Given the description of an element on the screen output the (x, y) to click on. 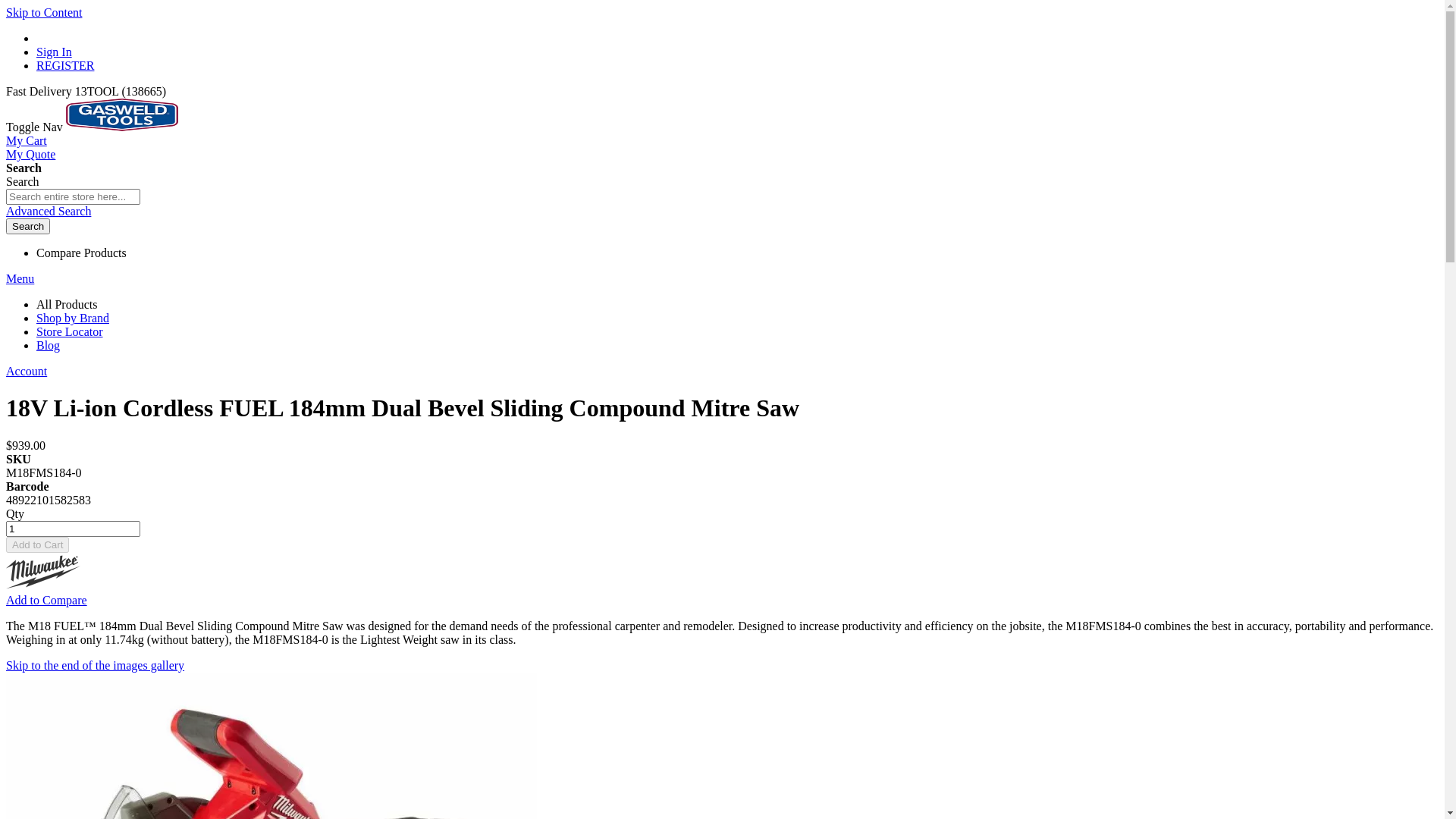
Store Locator Element type: text (69, 331)
Search Element type: text (28, 226)
Blog Element type: text (47, 344)
Add to Cart Element type: text (37, 544)
My Cart Element type: text (26, 140)
All Products Element type: text (66, 304)
Add to Compare Element type: text (46, 599)
Gasweld The Tool Shop For Professionals Element type: hover (121, 114)
REGISTER Element type: text (65, 65)
Milwaukee Element type: hover (43, 586)
Compare Products Element type: text (81, 252)
Sign In Element type: text (54, 51)
Gasweld The Tool Shop For Professionals Element type: hover (121, 126)
Menu Element type: text (20, 278)
My Quote Element type: text (30, 153)
Skip to Content Element type: text (43, 12)
Skip to the end of the images gallery Element type: text (95, 664)
Milwaukee Element type: hover (43, 571)
Advanced Search Element type: text (48, 210)
Shop by Brand Element type: text (72, 317)
Account Element type: text (26, 370)
Qty Element type: hover (73, 528)
